Given the description of an element on the screen output the (x, y) to click on. 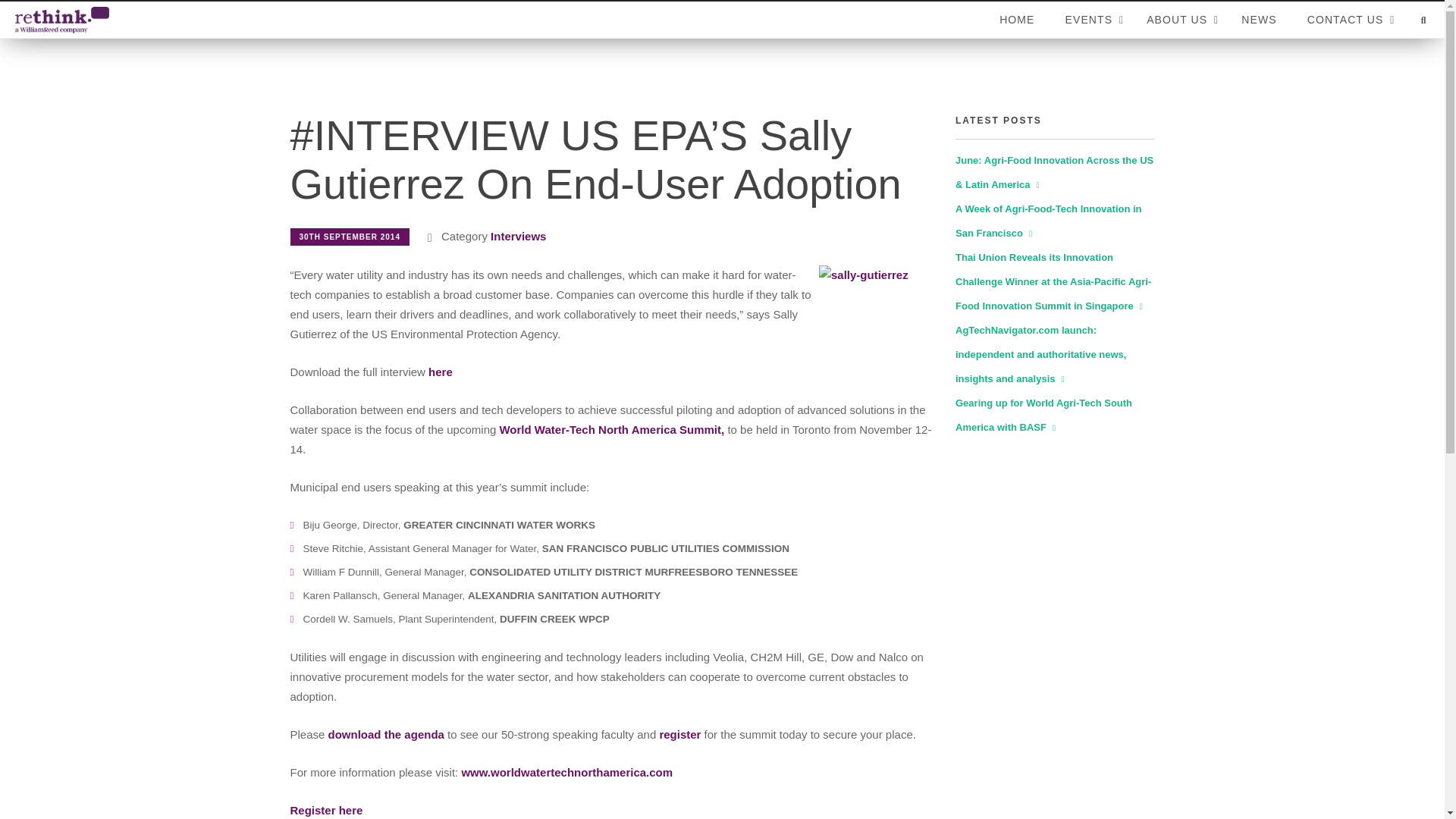
register (679, 734)
Interviews (518, 236)
here (440, 371)
Send (1227, 420)
download the agenda (386, 734)
www.worldwatertechnorthamerica.com (566, 771)
NEWS (1258, 19)
HOME (1016, 19)
Gearing up for World Agri-Tech South America with BASF (722, 19)
ABOUT US (1043, 415)
A Week of Agri-Food-Tech Innovation in San Francisco (1178, 19)
World Water-Tech North America Summit, (1048, 221)
CONTACT US (611, 429)
